Given the description of an element on the screen output the (x, y) to click on. 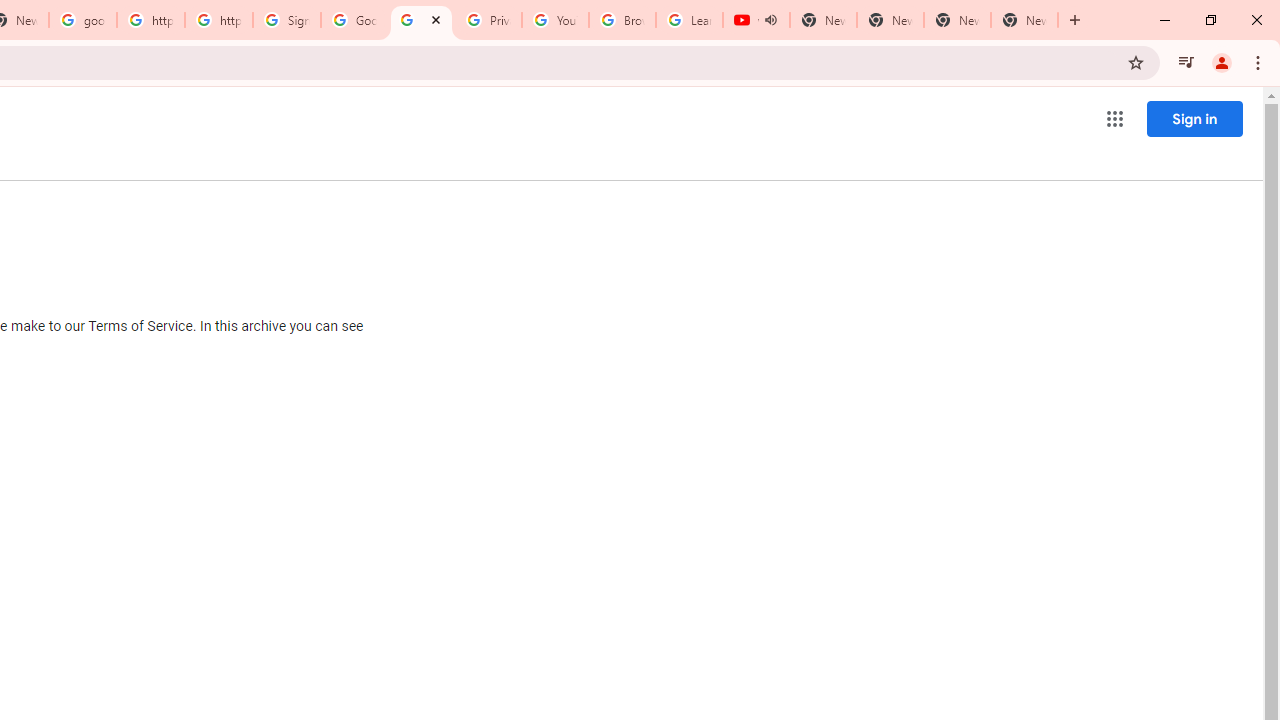
https://scholar.google.com/ (150, 20)
YouTube (555, 20)
New Tab (1024, 20)
